Given the description of an element on the screen output the (x, y) to click on. 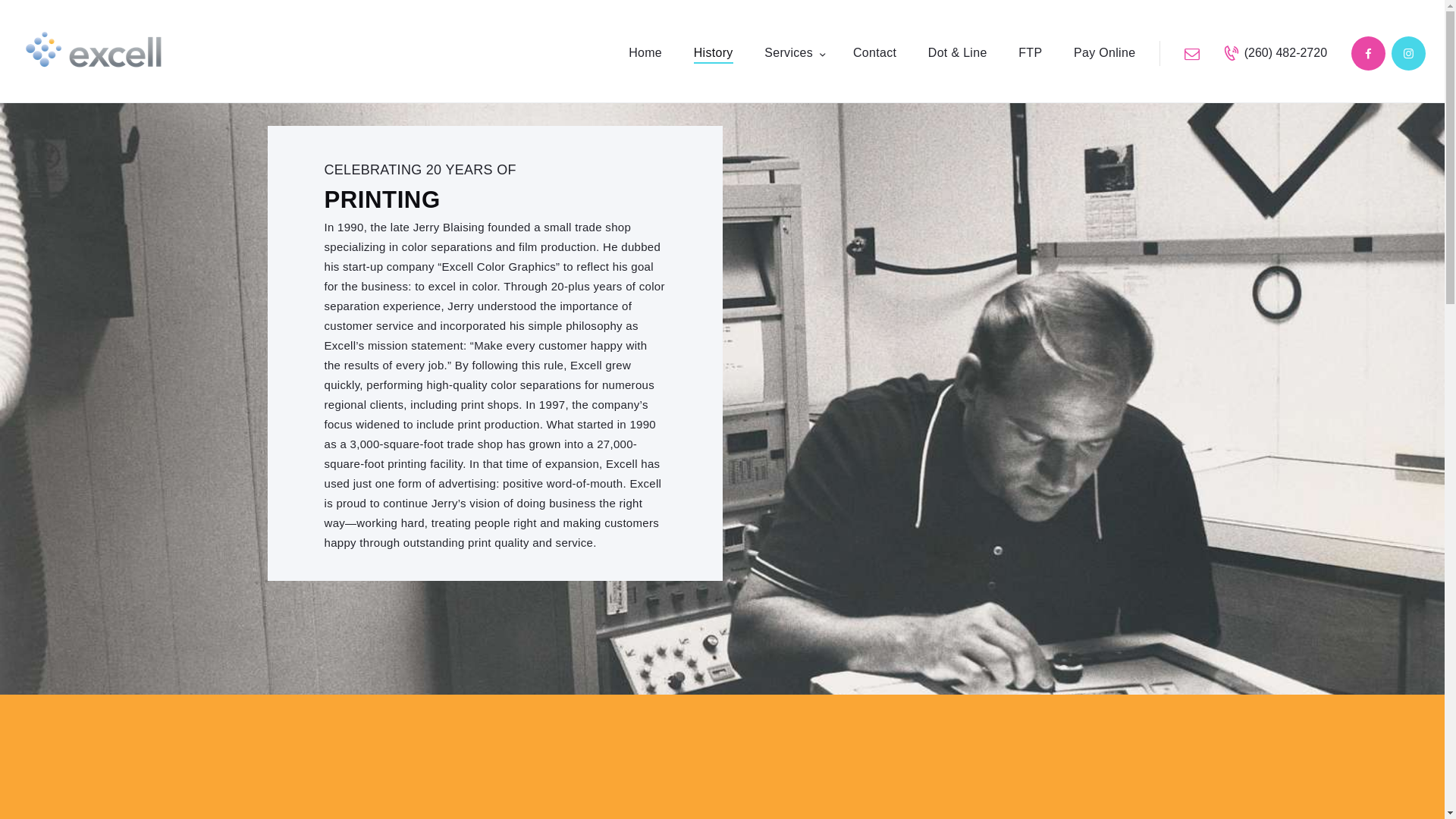
Home (645, 53)
FTP (1030, 53)
Contact (874, 53)
History (713, 53)
Services (792, 53)
Pay Online (1104, 53)
